Given the description of an element on the screen output the (x, y) to click on. 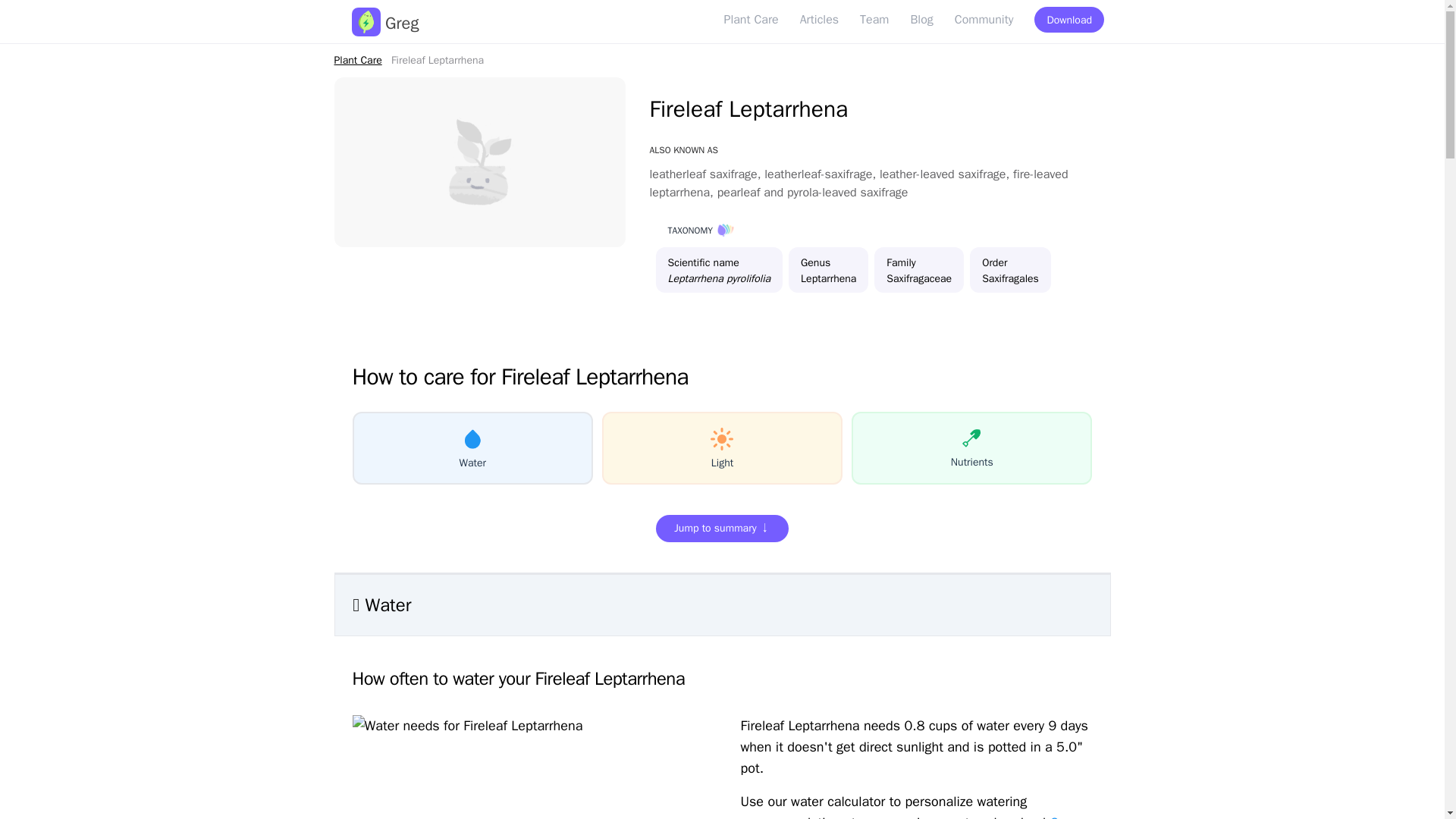
Water (472, 447)
Team (874, 19)
Articles (818, 19)
Blog (921, 19)
Greg (1063, 816)
Greg (385, 23)
Download (1069, 19)
Plant Care (357, 60)
Nutrients (971, 447)
Light (722, 447)
Plant Care (750, 19)
Community (984, 19)
